Given the description of an element on the screen output the (x, y) to click on. 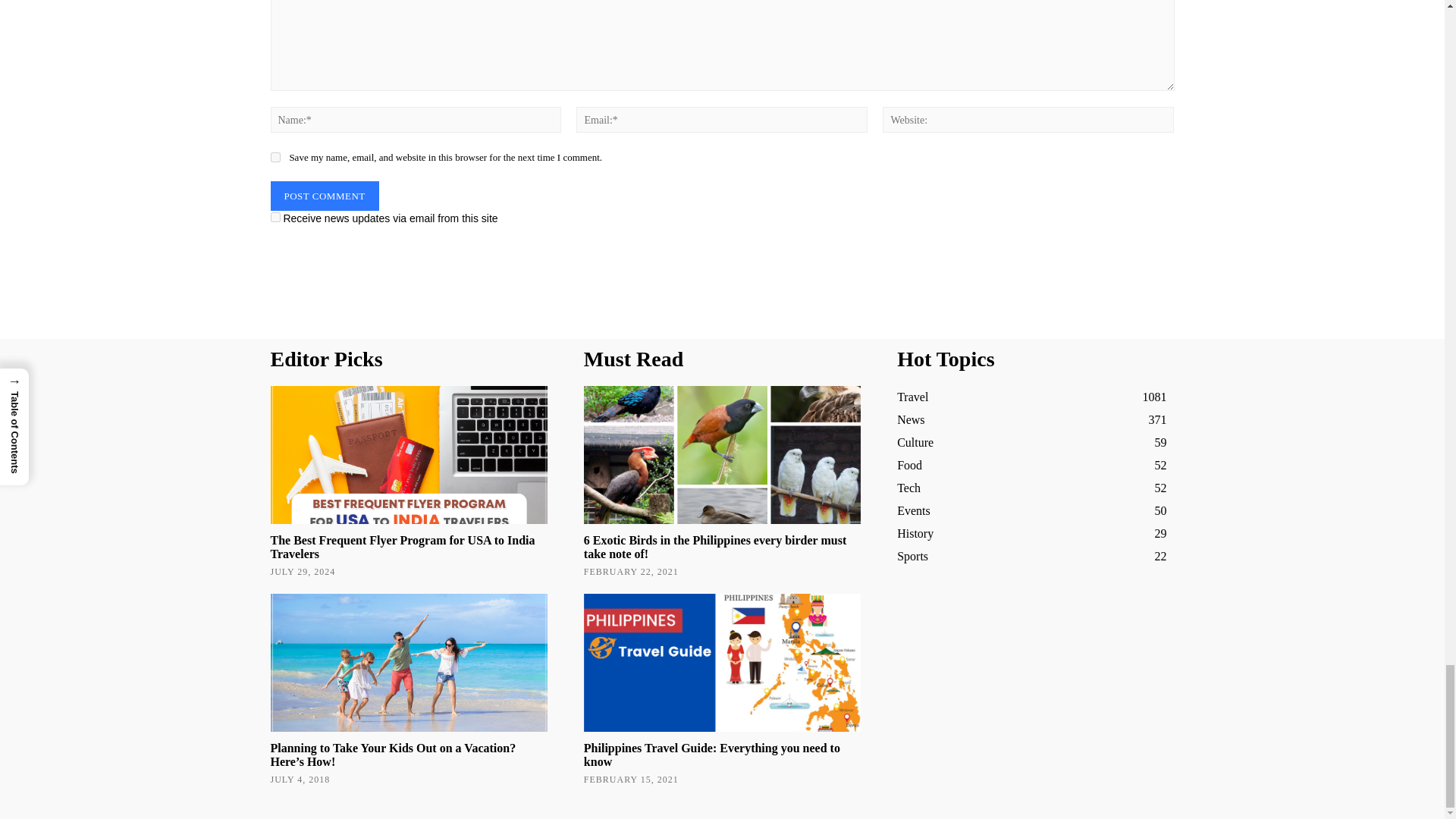
1 (274, 216)
Post Comment (323, 195)
yes (274, 157)
